Given the description of an element on the screen output the (x, y) to click on. 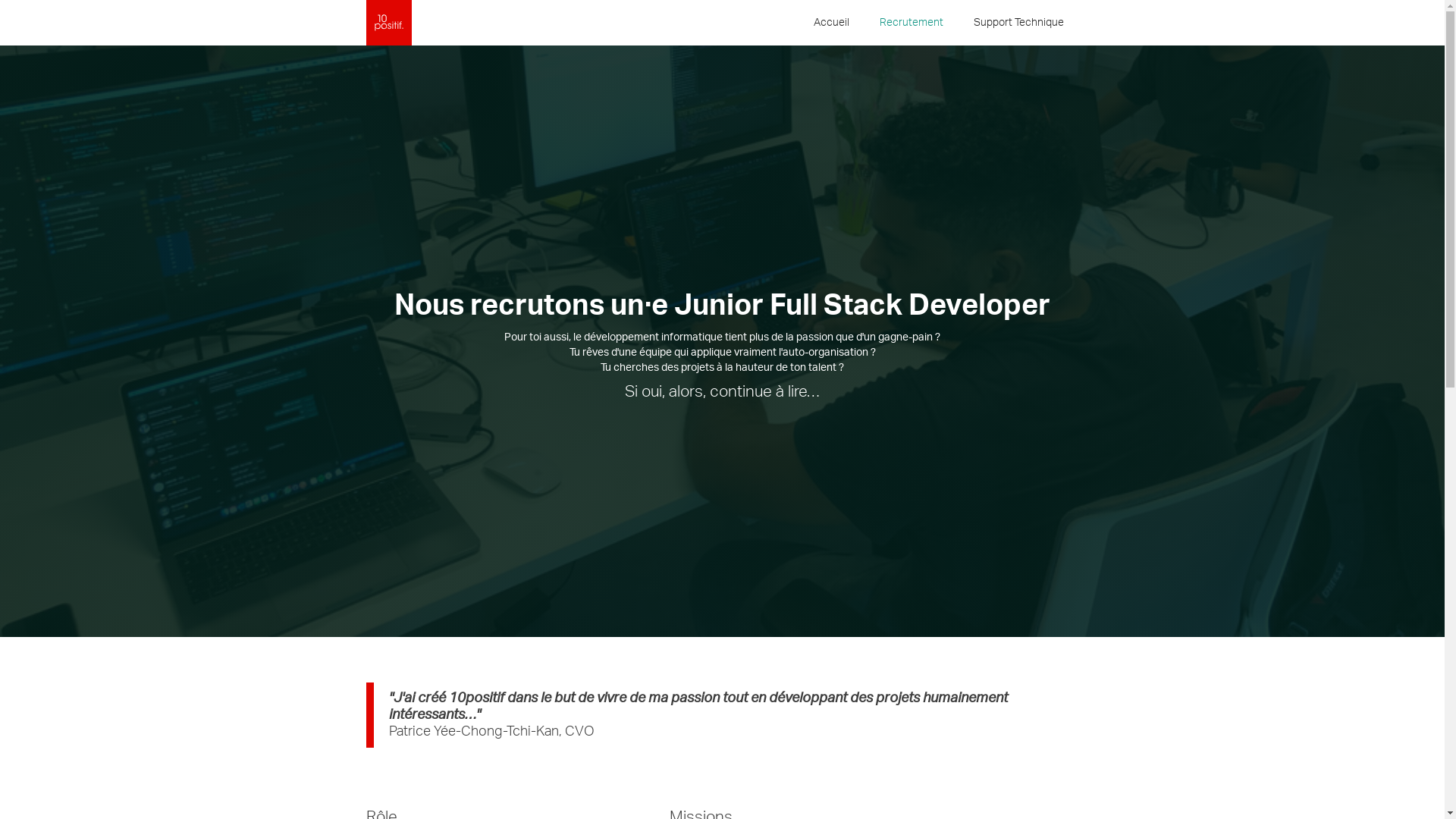
Support Technique Element type: text (1018, 22)
Recrutement Element type: text (911, 22)
Accueil Element type: text (830, 22)
